Given the description of an element on the screen output the (x, y) to click on. 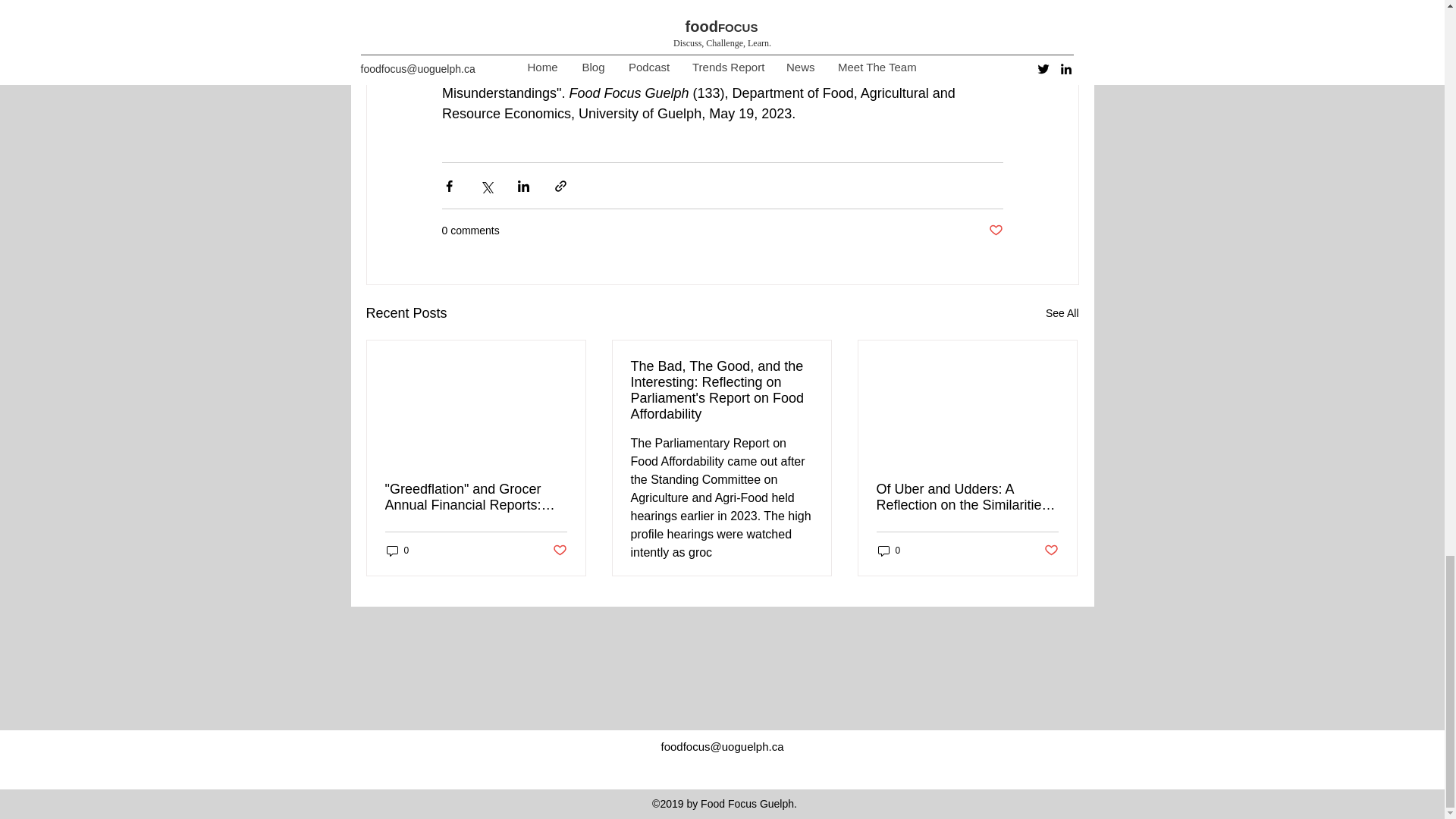
Post not marked as liked (995, 230)
